Given the description of an element on the screen output the (x, y) to click on. 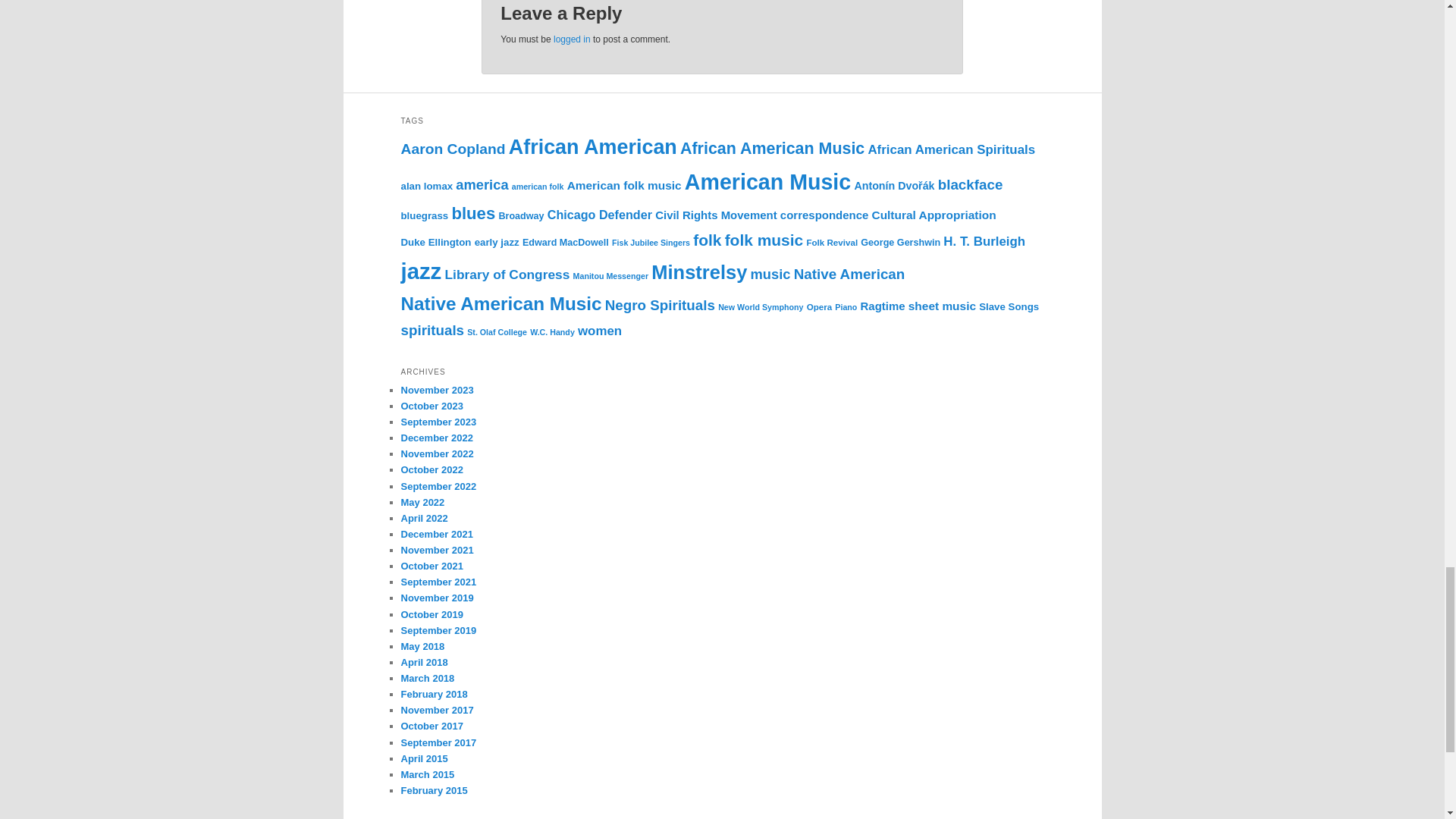
america (481, 184)
alan lomax (426, 185)
African American Music (771, 148)
bluegrass (424, 215)
African American (592, 146)
logged in (572, 39)
blackface (970, 184)
American Music (767, 181)
blues (473, 212)
american folk (538, 185)
Aaron Copland (452, 148)
American folk music (624, 185)
African American Spirituals (951, 149)
